Given the description of an element on the screen output the (x, y) to click on. 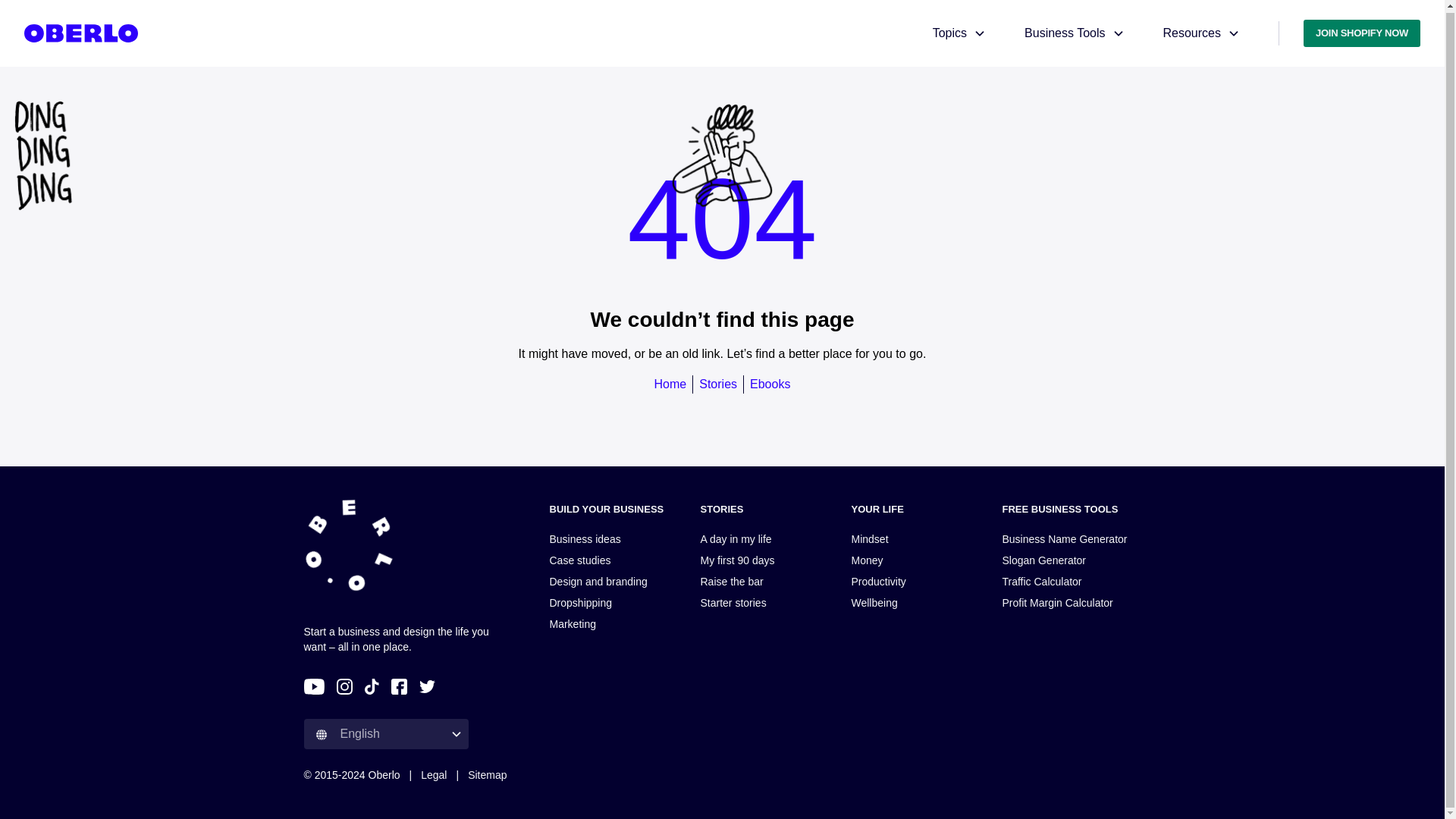
Home (670, 383)
JOIN SHOPIFY NOW (1362, 31)
